Given the description of an element on the screen output the (x, y) to click on. 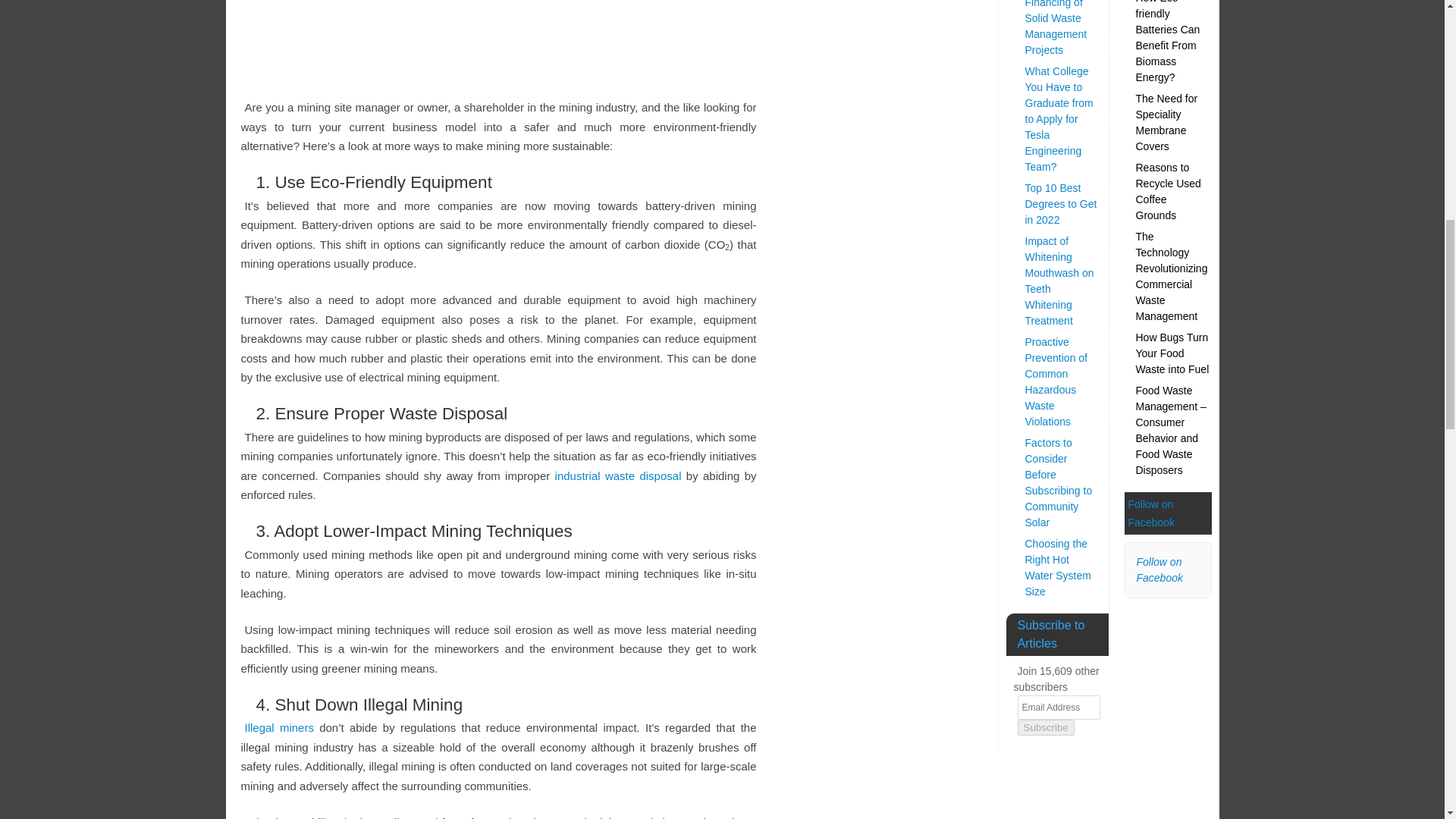
Illegal miners (278, 727)
industrial waste disposal (617, 475)
